Given the description of an element on the screen output the (x, y) to click on. 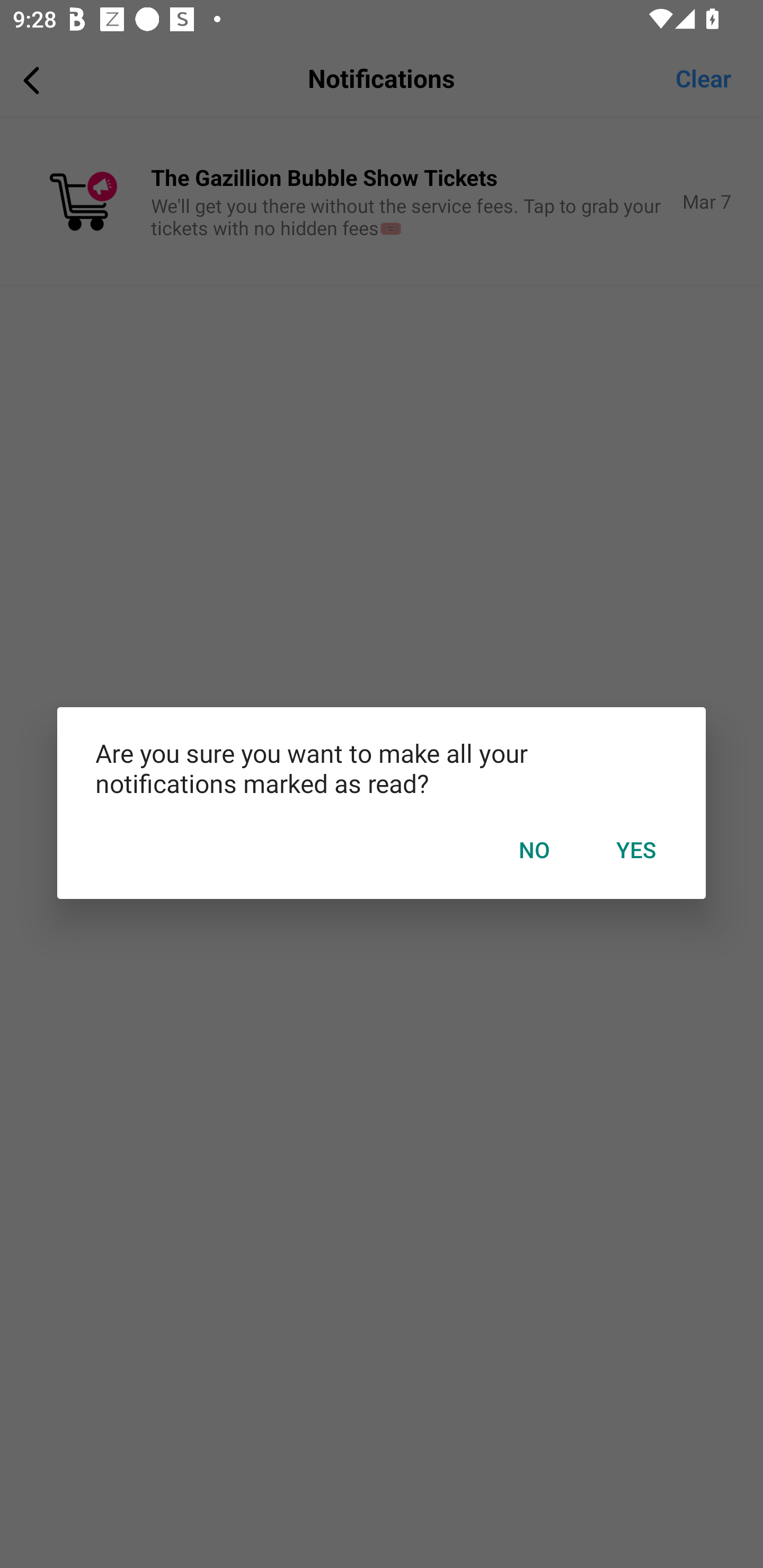
NO (533, 849)
YES (635, 849)
